Given the description of an element on the screen output the (x, y) to click on. 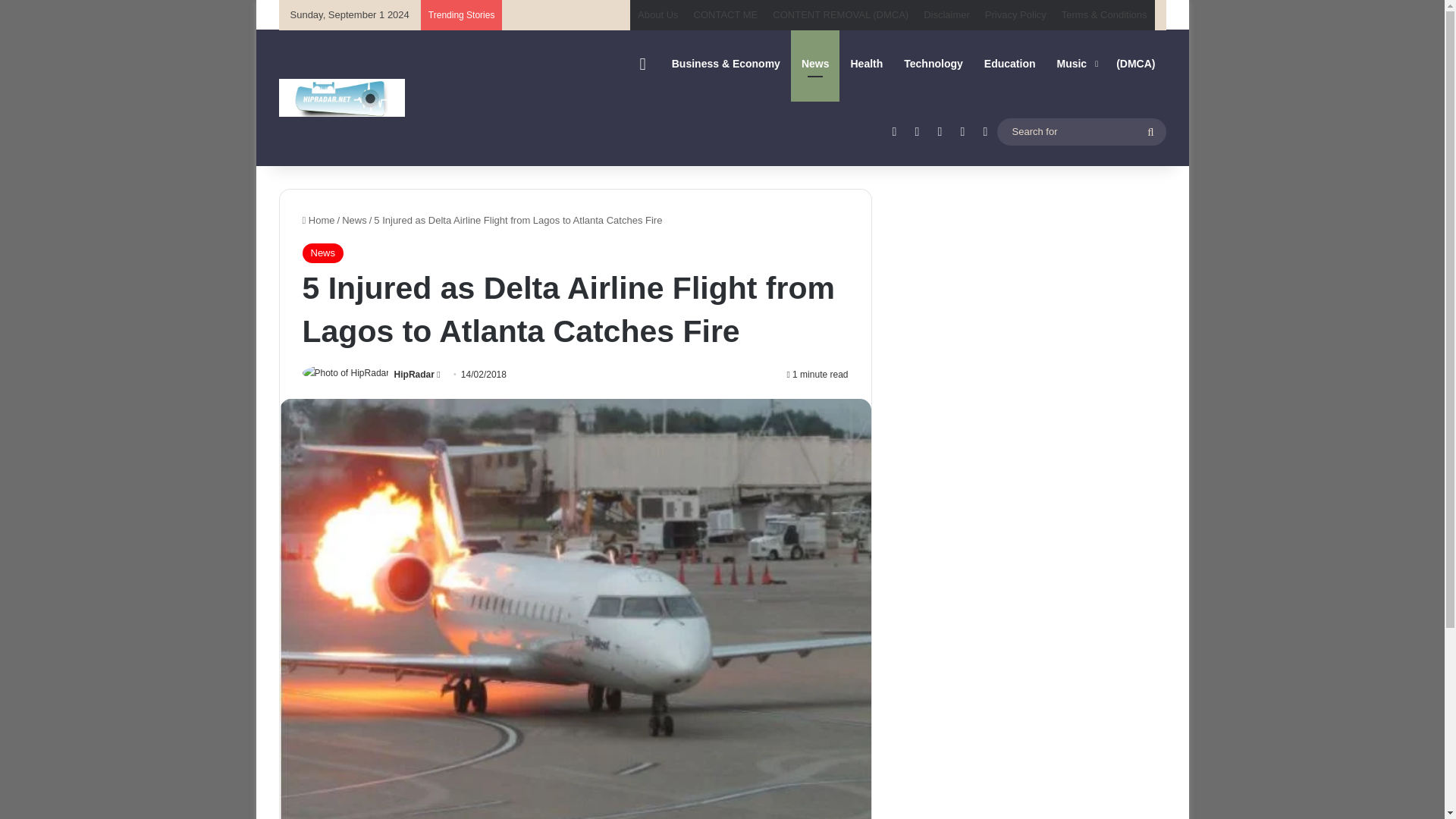
Search for (1080, 131)
Disclaimer (945, 15)
About Us (657, 15)
Search for (1150, 131)
Privacy Policy (1015, 15)
HipRadar (413, 374)
CONTACT ME (725, 15)
Home (317, 220)
News (354, 220)
News (322, 252)
